Given the description of an element on the screen output the (x, y) to click on. 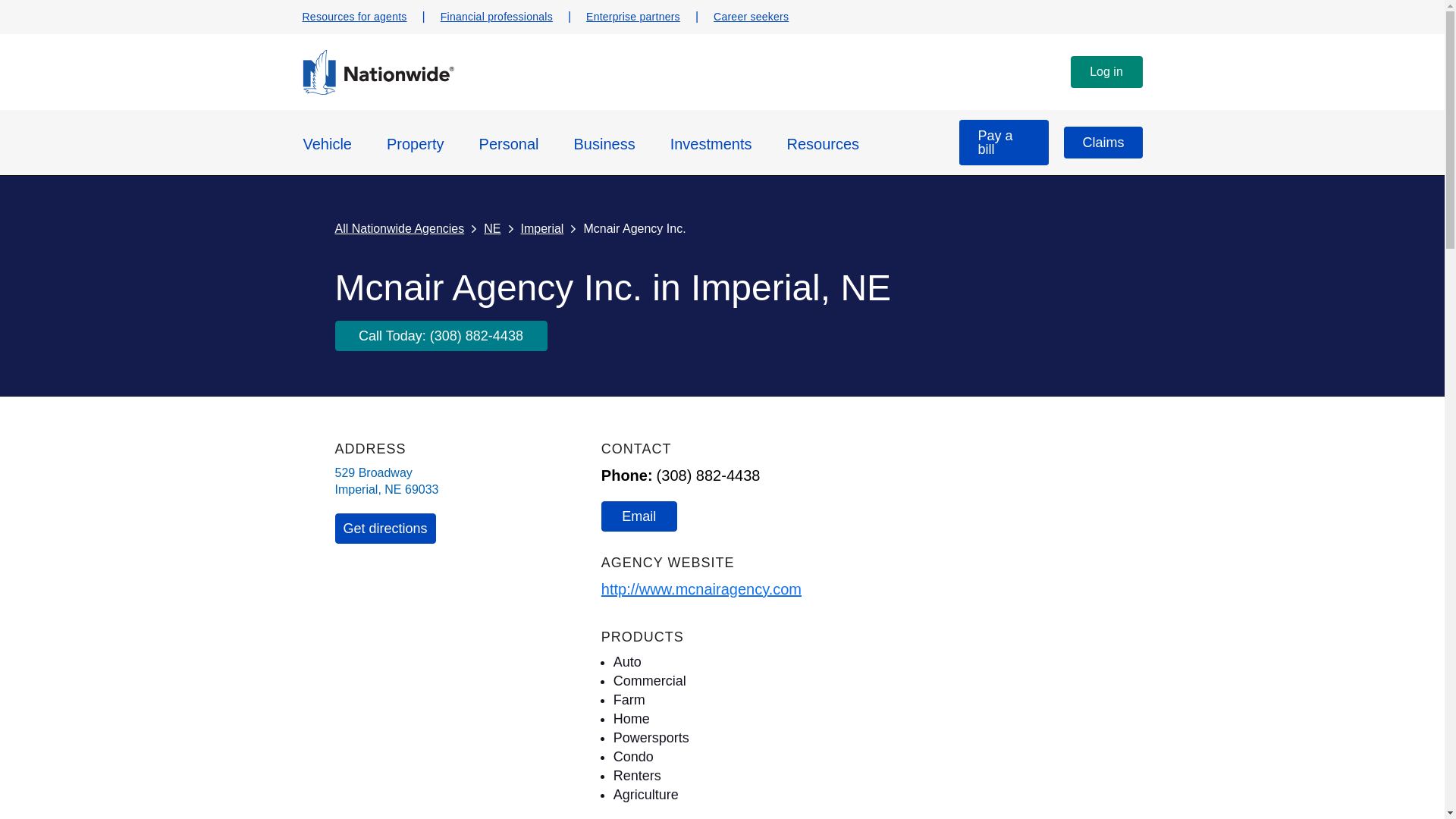
Nebraska (392, 489)
Career seekers (751, 17)
Financial professionals (497, 17)
Pay a bill (1003, 142)
Resources for agents (353, 17)
Log in (1105, 71)
Claims (1102, 142)
Link to Nationwide main website (376, 90)
Enterprise partners (632, 17)
